Given the description of an element on the screen output the (x, y) to click on. 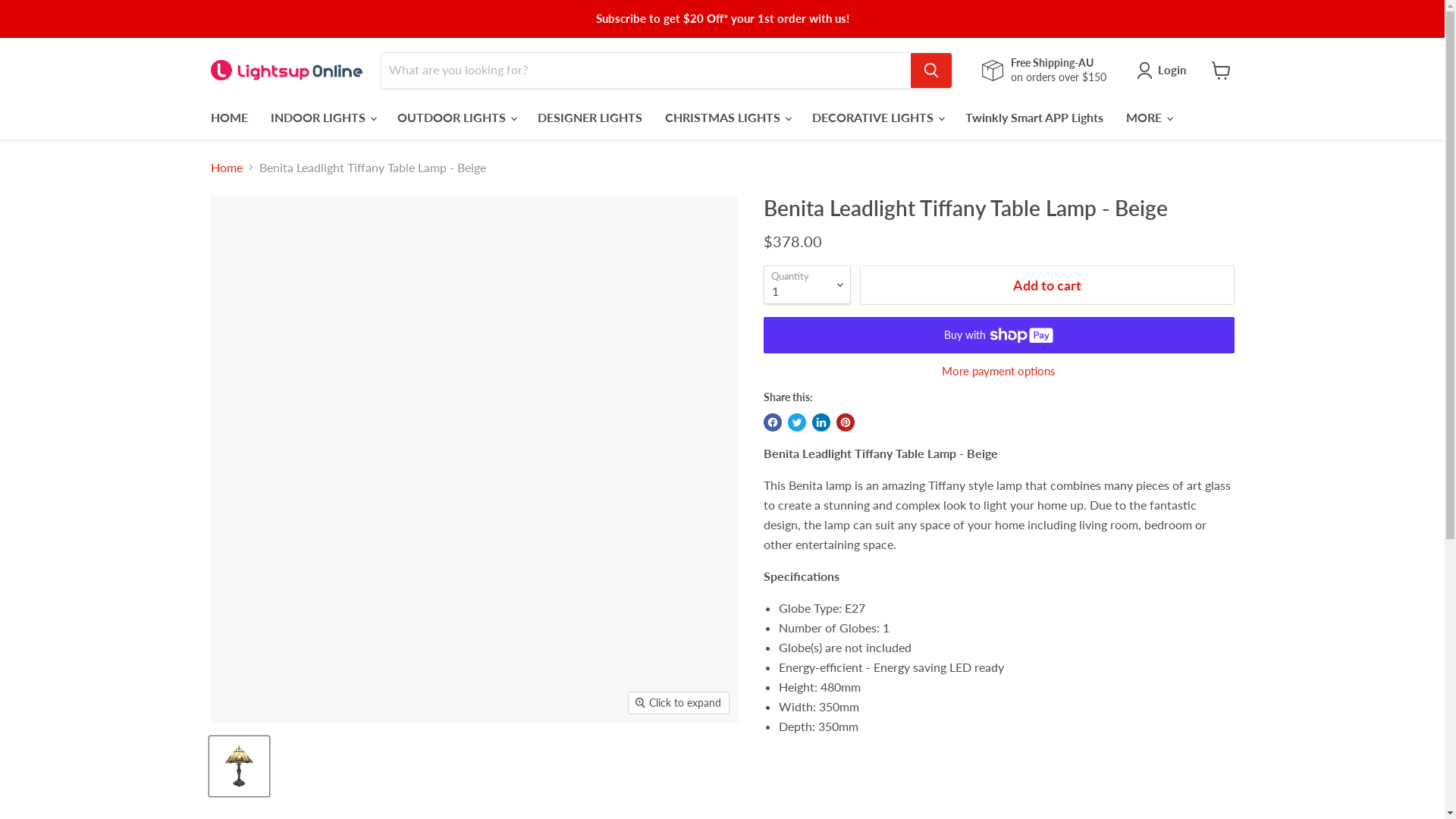
Home Element type: text (226, 167)
Twinkly Smart APP Lights Element type: text (1033, 117)
Share on Facebook Element type: text (771, 422)
DESIGNER LIGHTS Element type: text (589, 117)
View cart Element type: text (1221, 69)
HOME Element type: text (228, 117)
Add to cart Element type: text (1046, 284)
Login Element type: text (1164, 70)
Pin on Pinterest Element type: text (844, 422)
Tweet on Twitter Element type: text (796, 422)
Click to expand Element type: text (678, 702)
Share on LinkedIn Element type: text (820, 422)
More payment options Element type: text (997, 370)
